Given the description of an element on the screen output the (x, y) to click on. 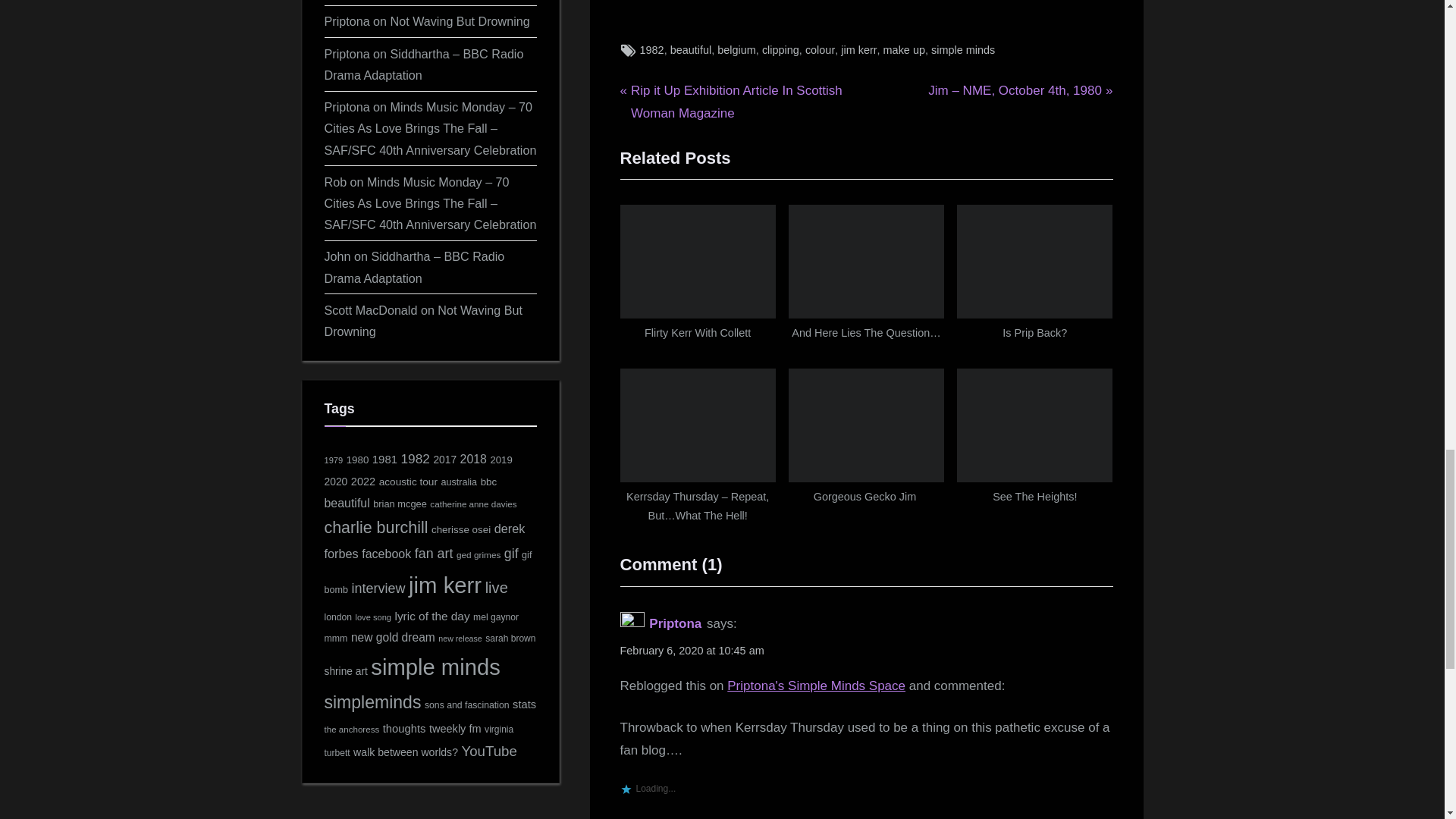
simple minds (866, 49)
beautiful (690, 49)
simple minds (962, 49)
jim kerr (657, 49)
jim kerr (858, 49)
colour (819, 49)
photo (788, 49)
make up (903, 49)
1982 (651, 49)
